Given the description of an element on the screen output the (x, y) to click on. 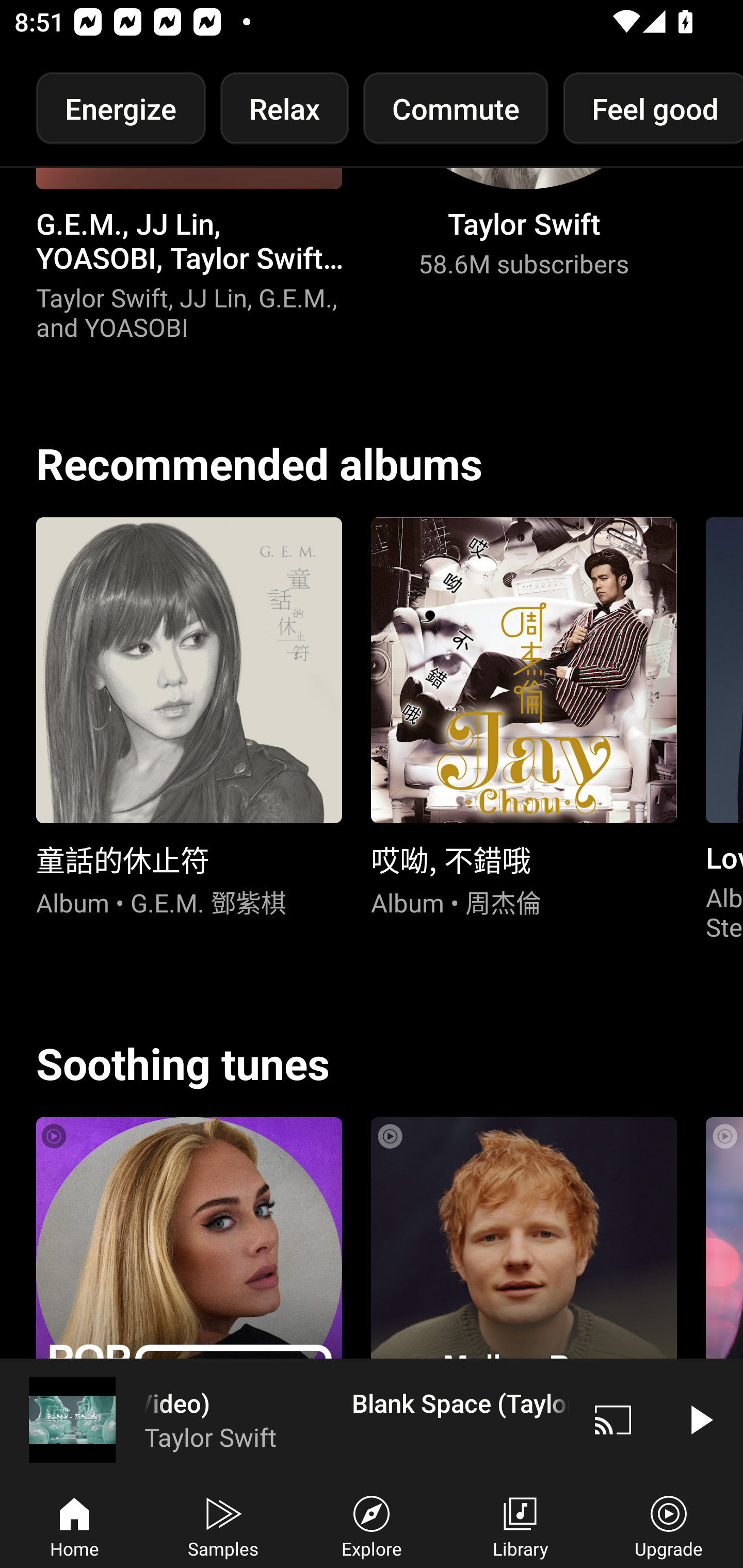
Cast. Disconnected (612, 1419)
Play video (699, 1419)
Home (74, 1524)
Samples (222, 1524)
Explore (371, 1524)
Library (519, 1524)
Upgrade (668, 1524)
